Given the description of an element on the screen output the (x, y) to click on. 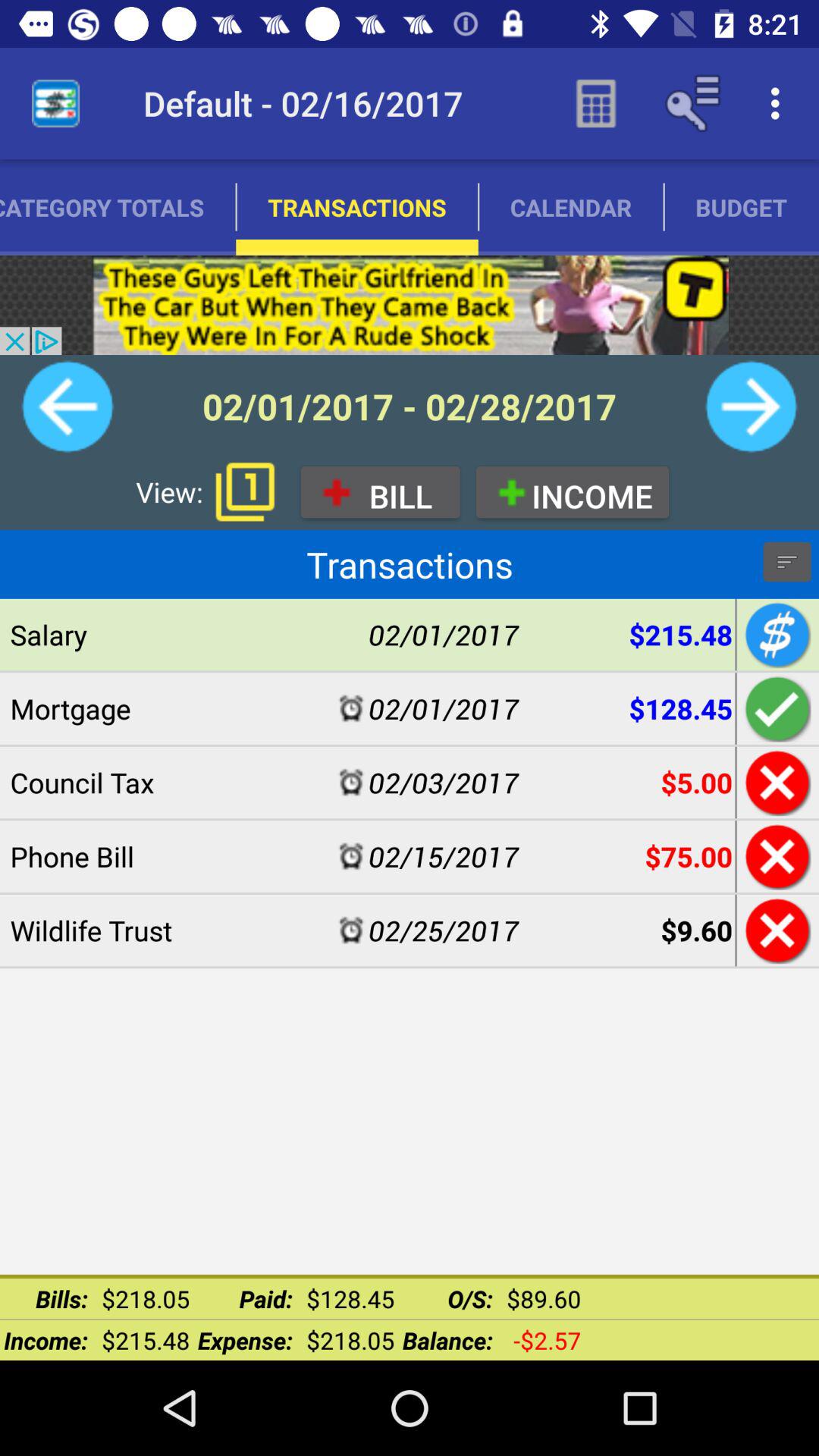
close council tax transaction (775, 782)
